Given the description of an element on the screen output the (x, y) to click on. 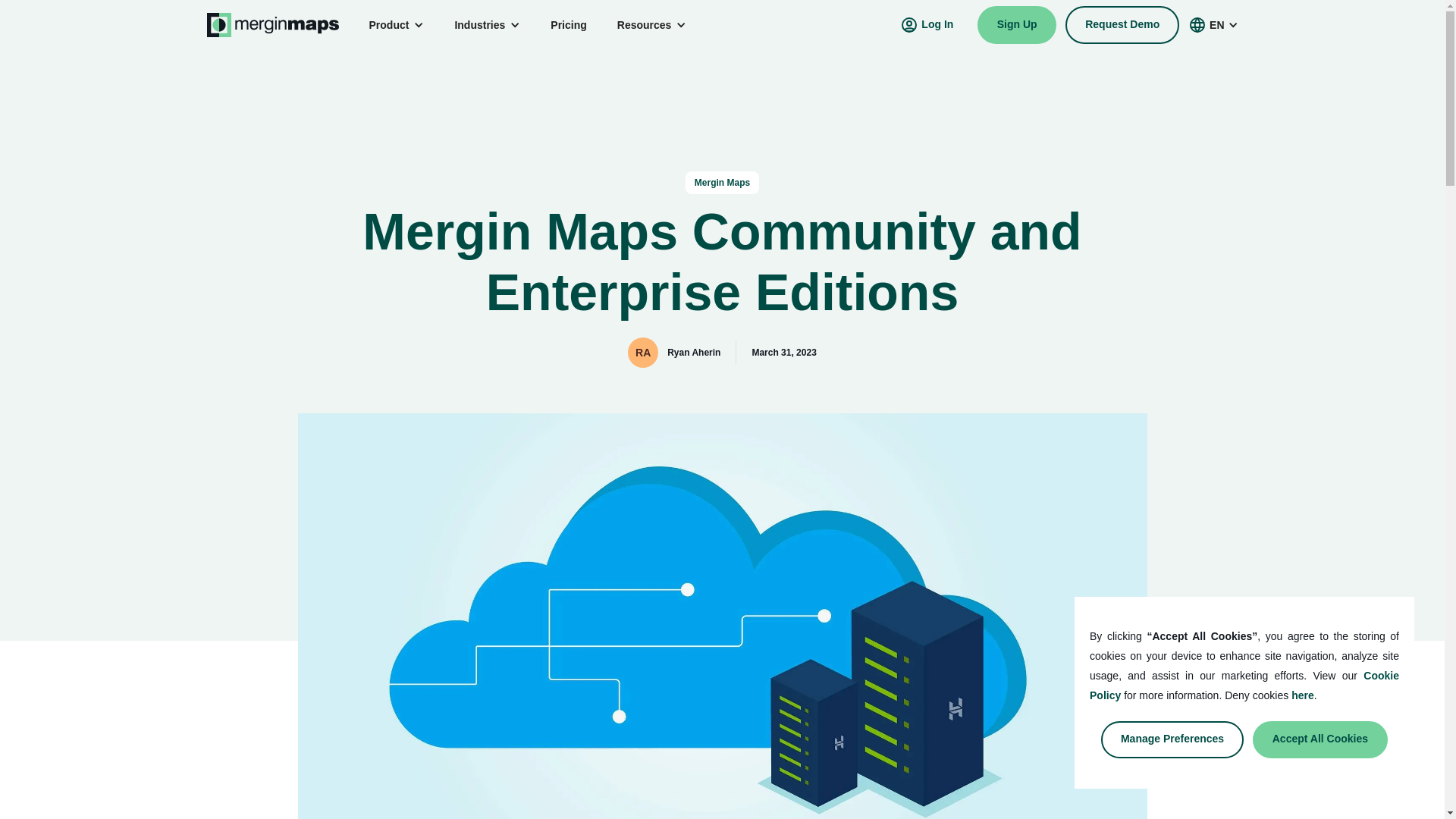
Pricing (568, 24)
Log In (926, 24)
Sign Up (1016, 24)
Request Demo (1122, 24)
